Given the description of an element on the screen output the (x, y) to click on. 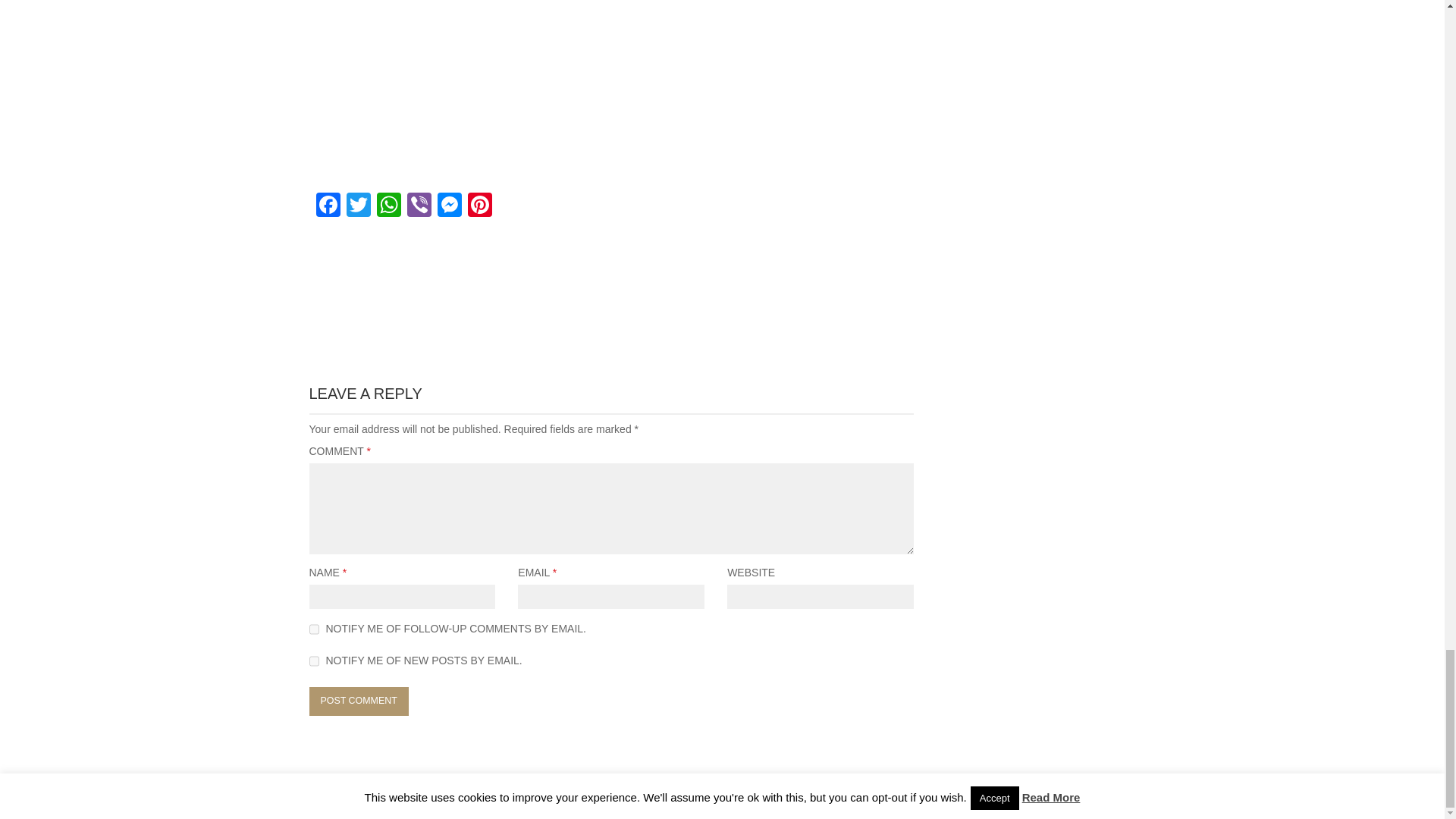
Messenger (448, 206)
WhatsApp (387, 206)
Post Comment (358, 701)
Twitter (357, 206)
Facebook (327, 206)
Facebook (327, 206)
Pinterest (479, 206)
Viber (418, 206)
Twitter (357, 206)
Viber (418, 206)
Post Comment (358, 701)
WhatsApp (387, 206)
